Given the description of an element on the screen output the (x, y) to click on. 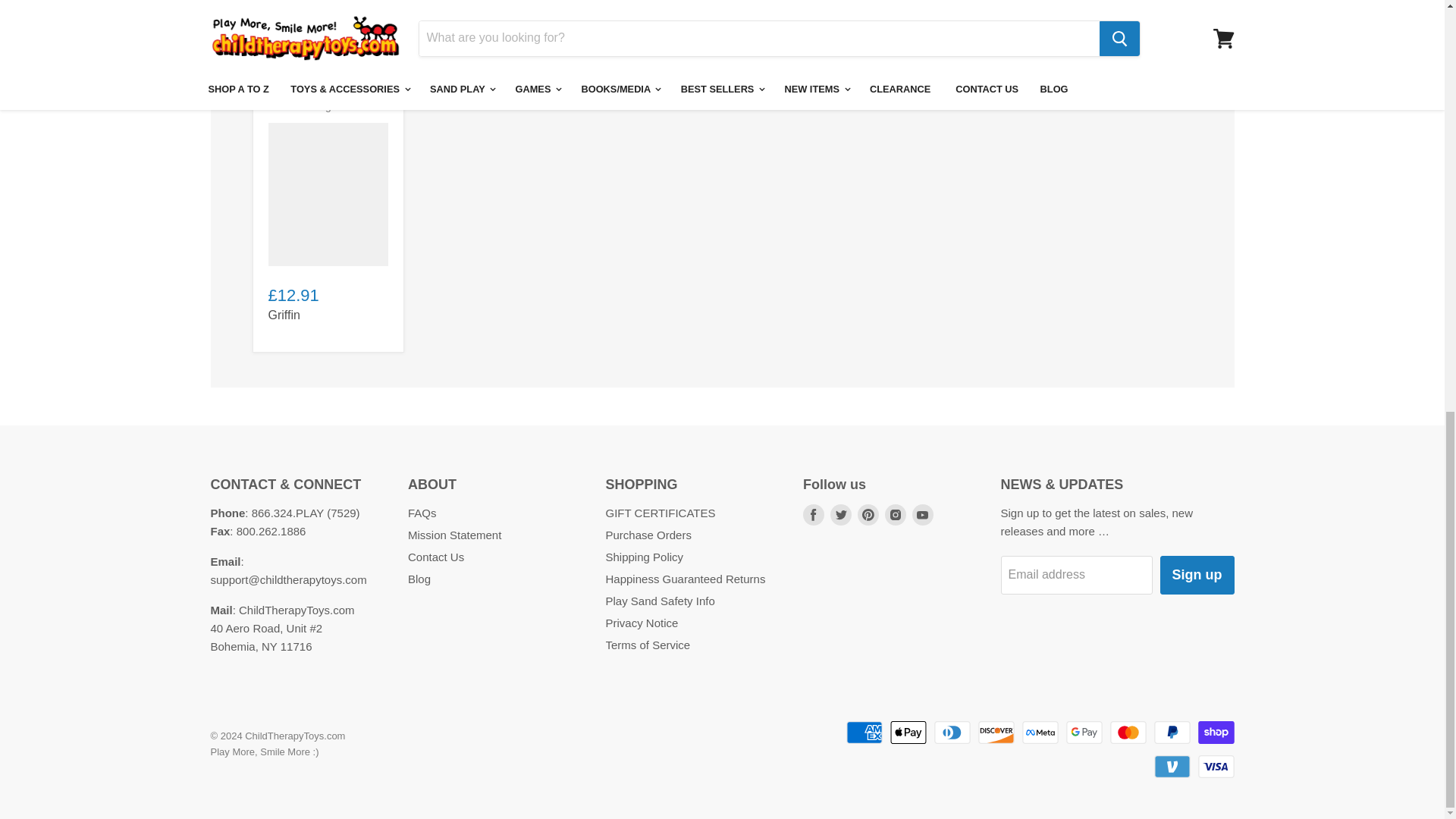
Twitter (840, 514)
Facebook (813, 514)
Pinterest (868, 514)
Youtube (922, 514)
Instagram (895, 514)
